Given the description of an element on the screen output the (x, y) to click on. 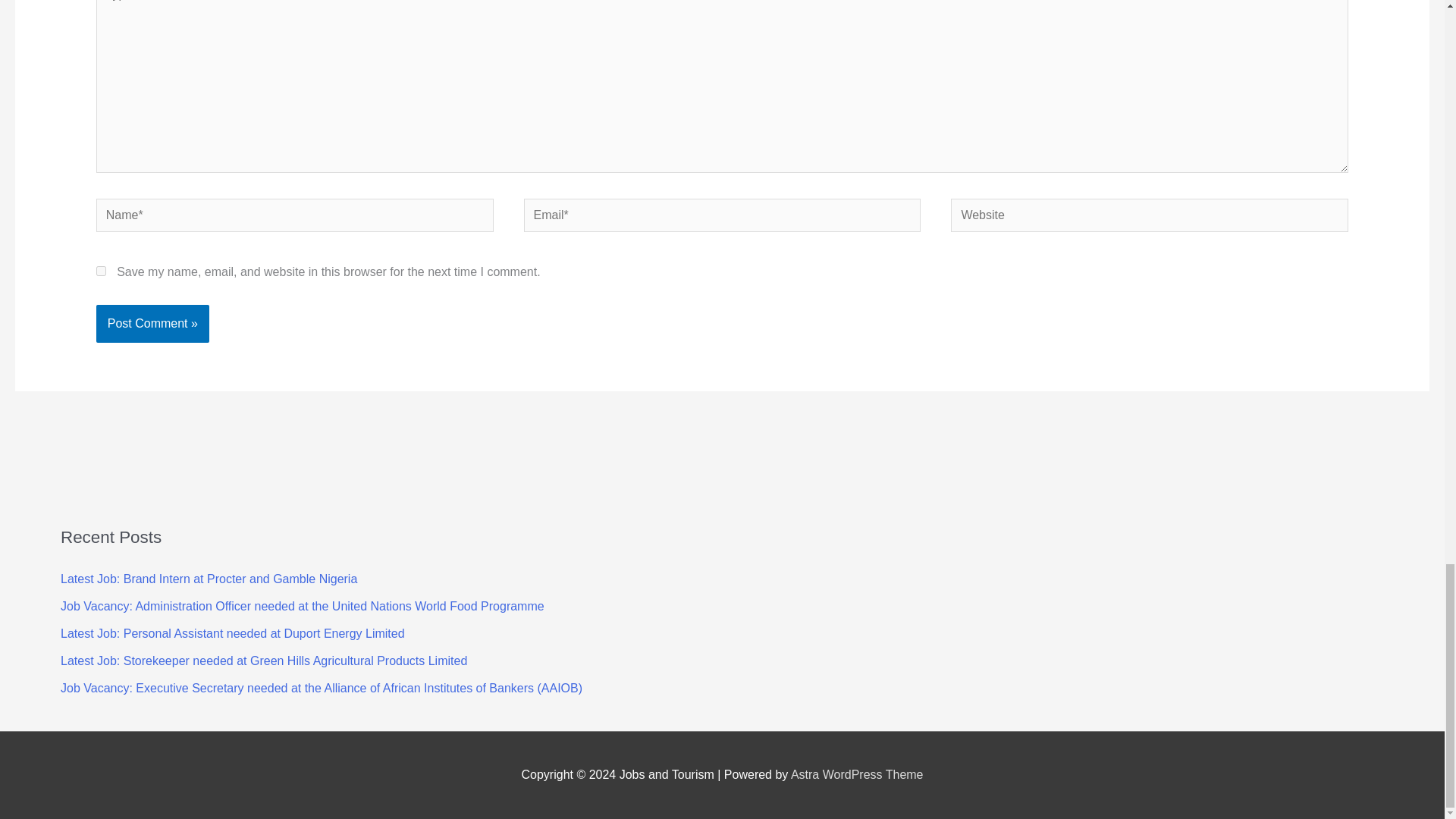
yes (101, 271)
Astra WordPress Theme (856, 774)
Latest Job: Brand Intern at Procter and Gamble Nigeria (208, 578)
